Given the description of an element on the screen output the (x, y) to click on. 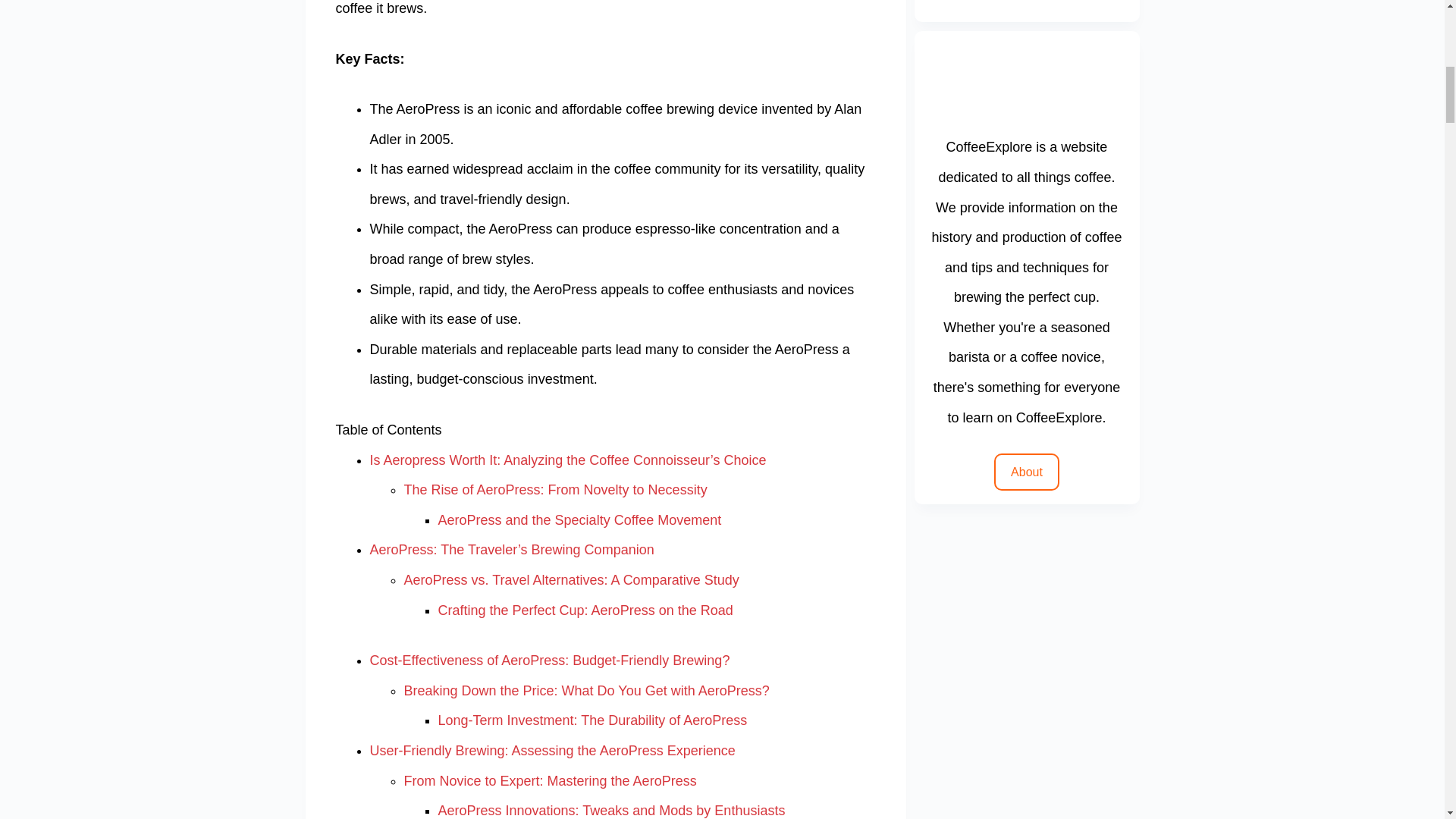
Breaking Down the Price: What Do You Get with AeroPress? (585, 690)
User-Friendly Brewing: Assessing the AeroPress Experience (552, 750)
Crafting the Perfect Cup: AeroPress on the Road (585, 610)
The Rise of AeroPress: From Novelty to Necessity (554, 489)
From Novice to Expert: Mastering the AeroPress (549, 780)
AeroPress vs. Travel Alternatives: A Comparative Study (570, 580)
Cost-Effectiveness of AeroPress: Budget-Friendly Brewing? (549, 660)
Long-Term Investment: The Durability of AeroPress (593, 720)
AeroPress Innovations: Tweaks and Mods by Enthusiasts (612, 810)
AeroPress and the Specialty Coffee Movement (580, 519)
